Given the description of an element on the screen output the (x, y) to click on. 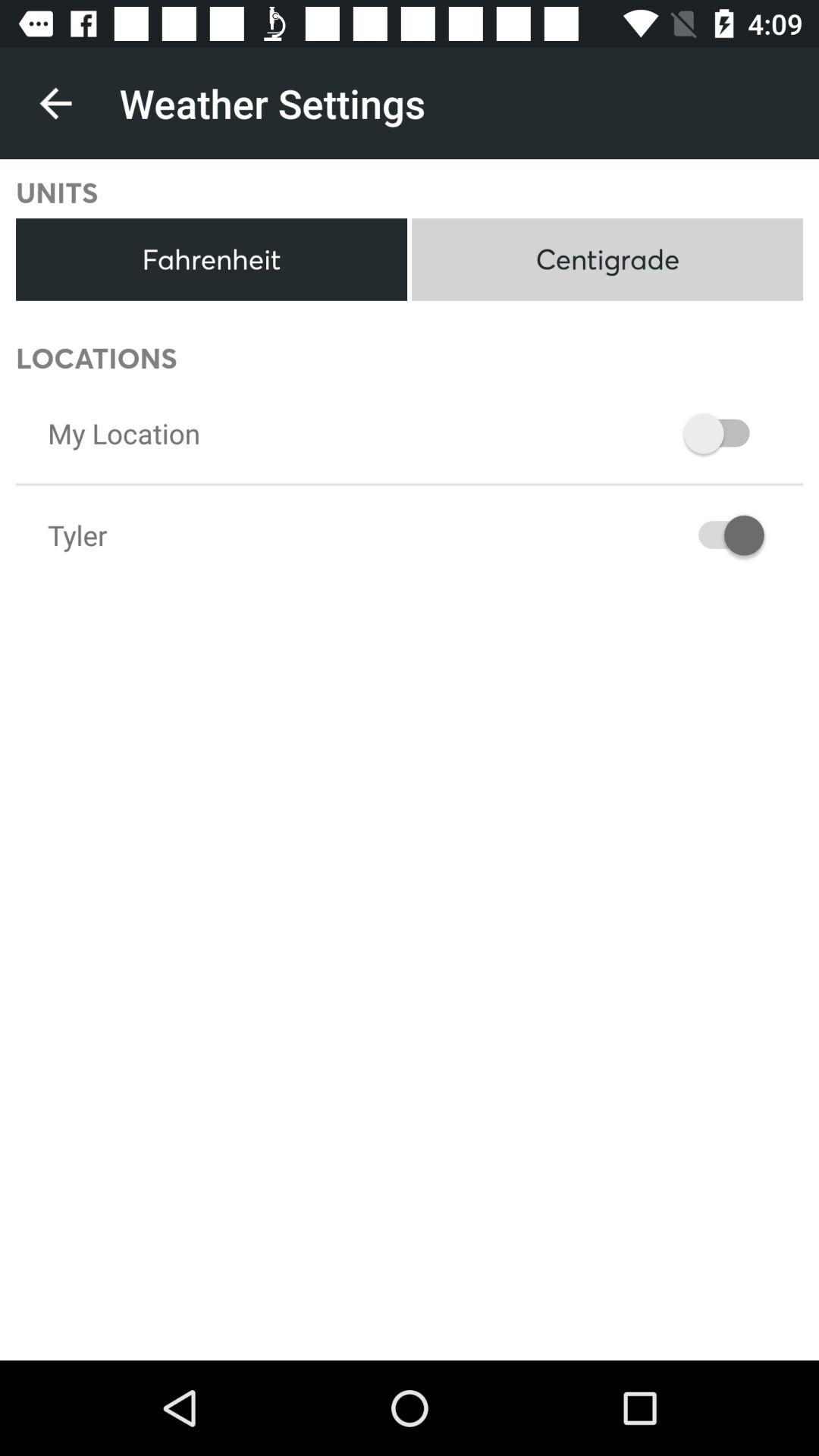
open the item on the left (77, 534)
